Given the description of an element on the screen output the (x, y) to click on. 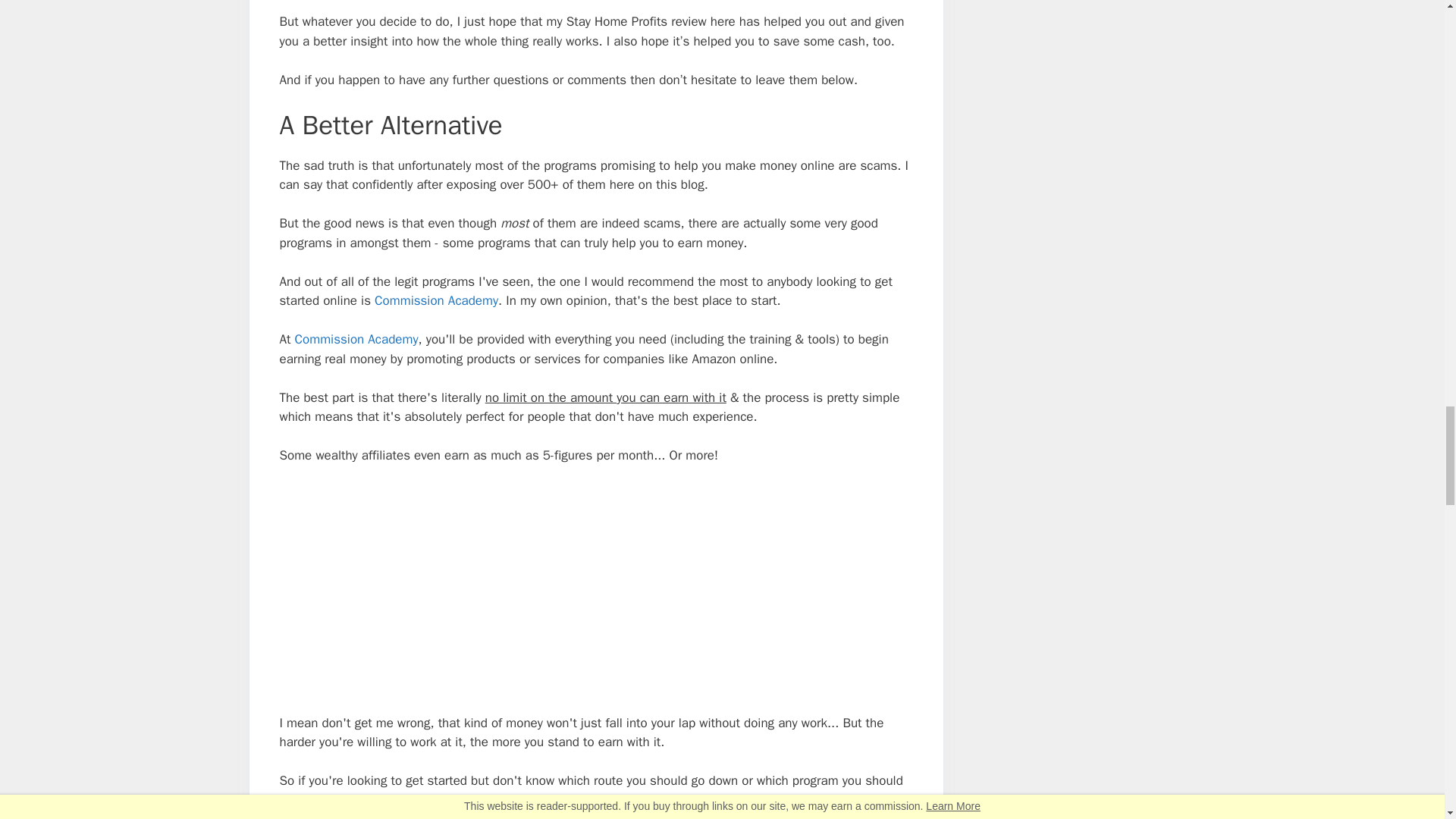
Commission Academy (357, 339)
Commission Academy (435, 300)
